Given the description of an element on the screen output the (x, y) to click on. 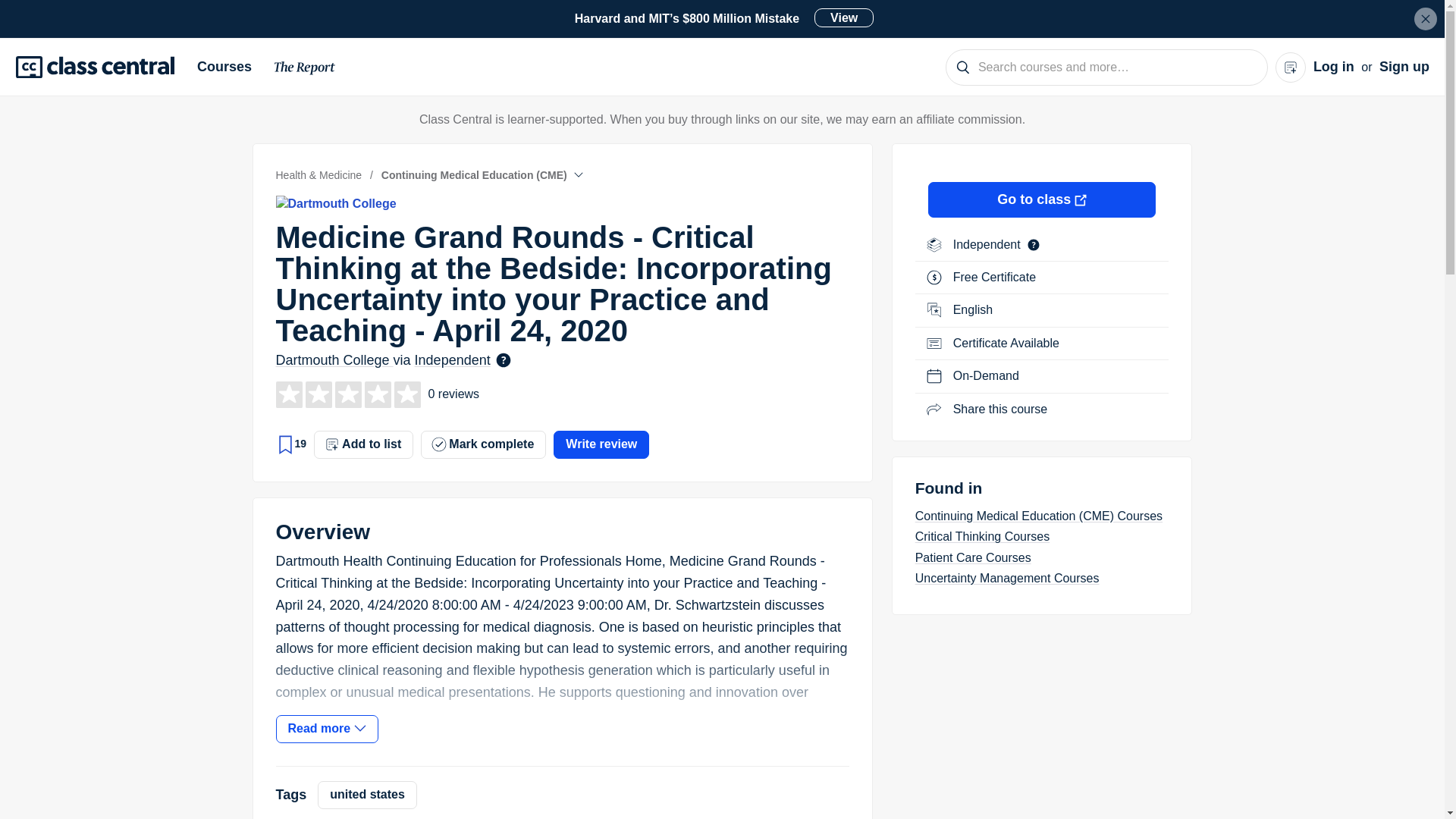
Courses (229, 66)
Close (1425, 18)
List of Independent MOOCs (988, 244)
The Report (304, 69)
